Given the description of an element on the screen output the (x, y) to click on. 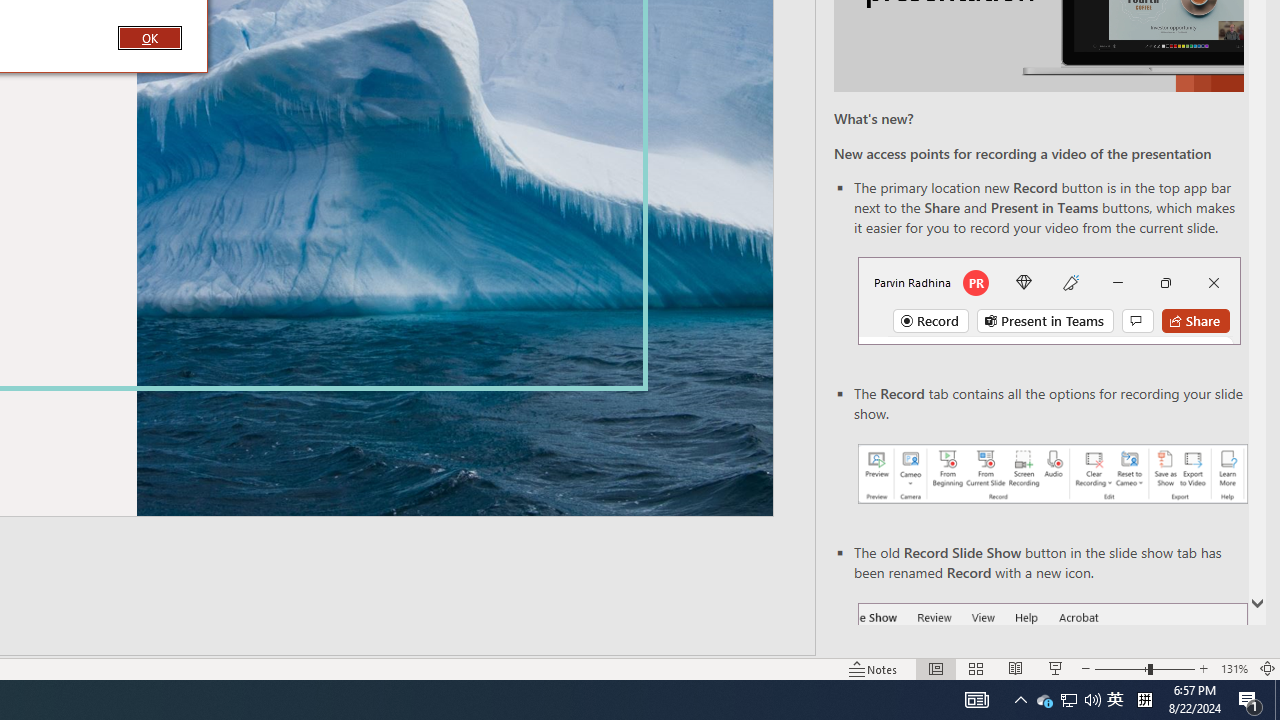
Record your presentations screenshot one (1052, 473)
Record button in top bar (1049, 300)
Action Center, 1 new notification (1250, 699)
